Given the description of an element on the screen output the (x, y) to click on. 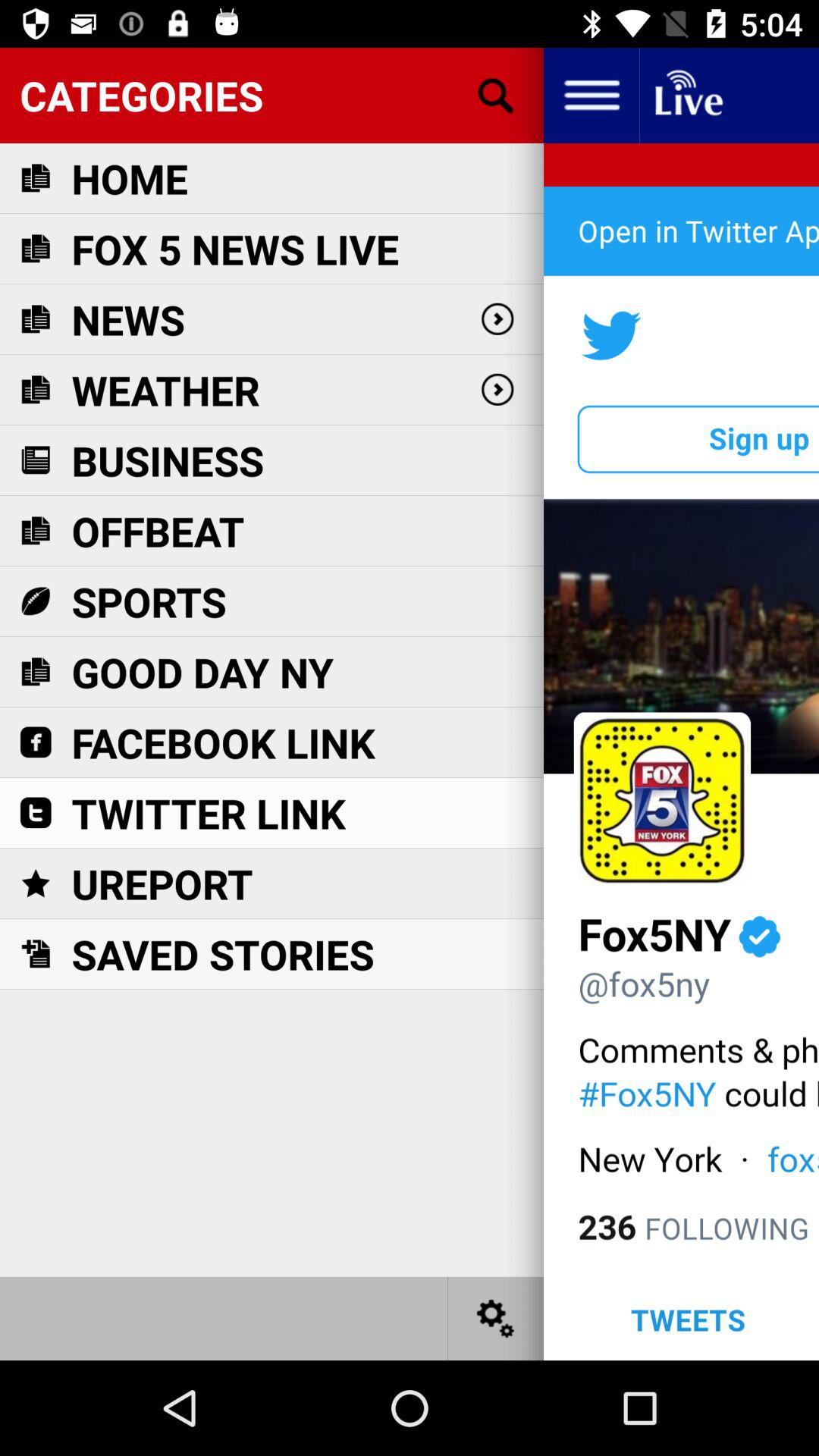
tap icon below the categories item (129, 177)
